Given the description of an element on the screen output the (x, y) to click on. 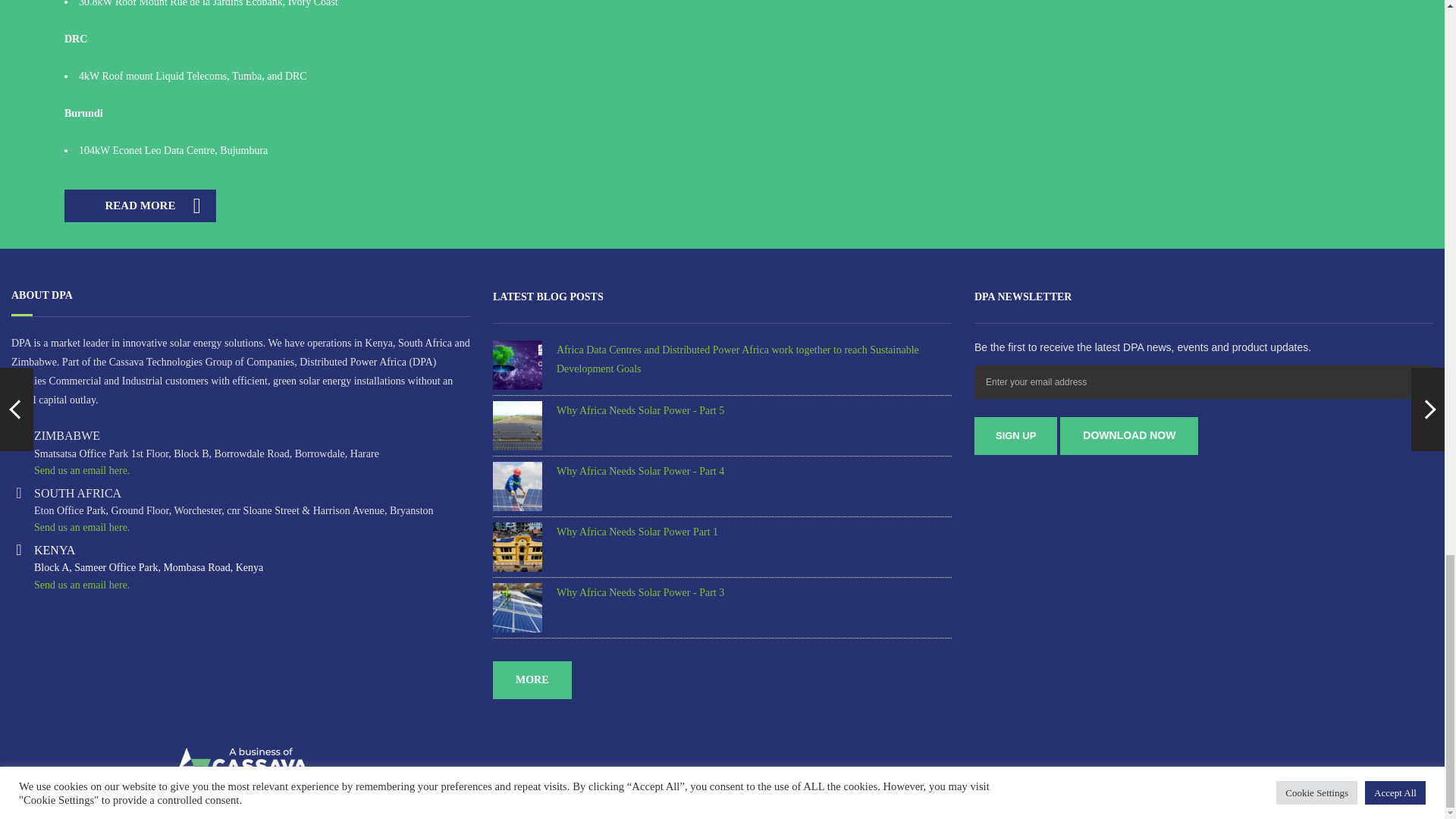
The Sun and Spotlight Shines on DPA (1128, 435)
Send us an email here. (81, 527)
Projects (139, 205)
Send us an email here. (81, 584)
READ MORE (139, 205)
Send us an email here. (81, 470)
Sign Up (1015, 435)
LATEST BLOG POSTS (548, 296)
